Given the description of an element on the screen output the (x, y) to click on. 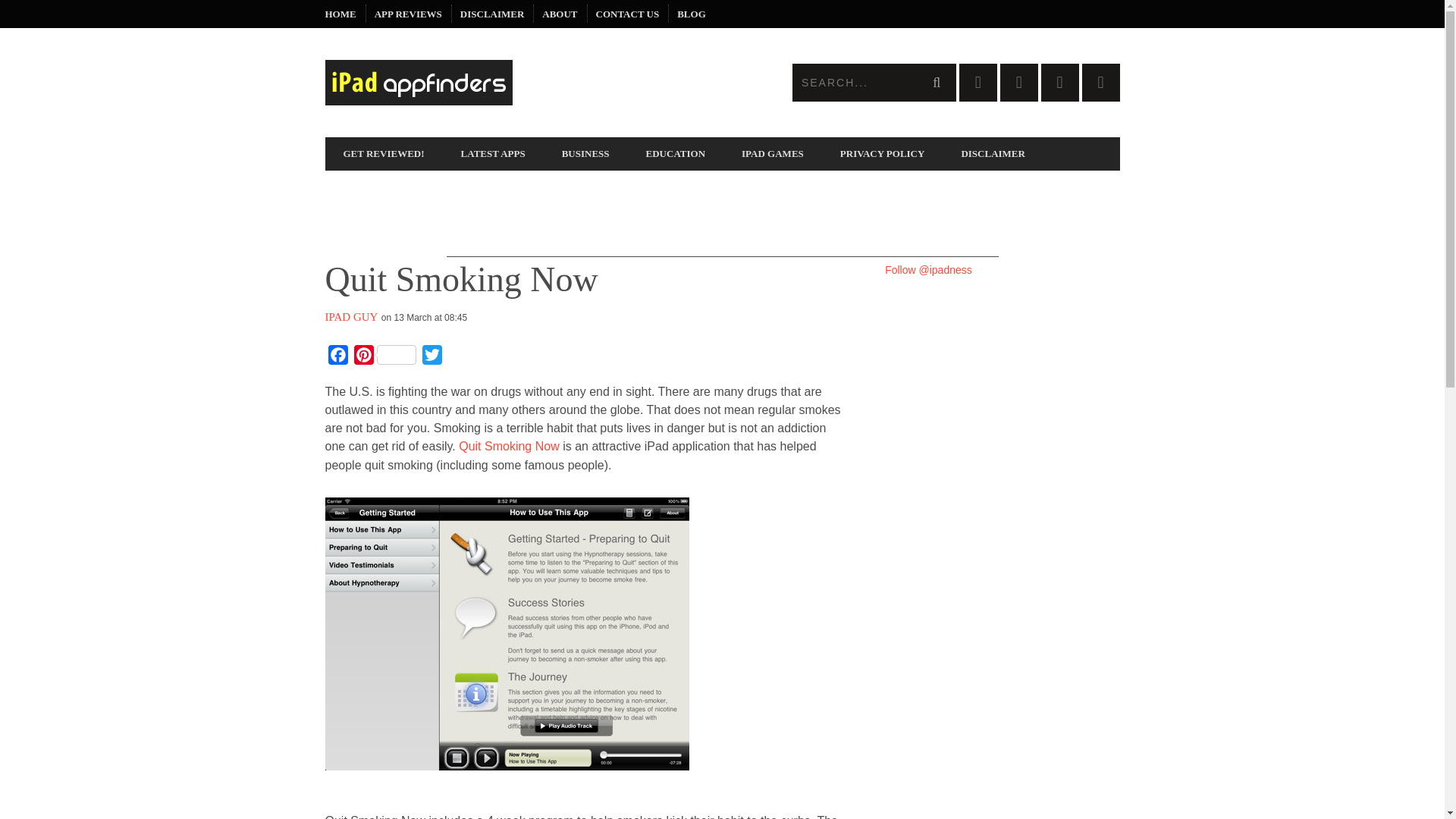
Facebook (337, 357)
Pinterest (384, 357)
iPad App Finders (523, 82)
Advertisement (721, 223)
HOME (340, 13)
Posts by iPad guy (350, 316)
Twitter (431, 357)
